Given the description of an element on the screen output the (x, y) to click on. 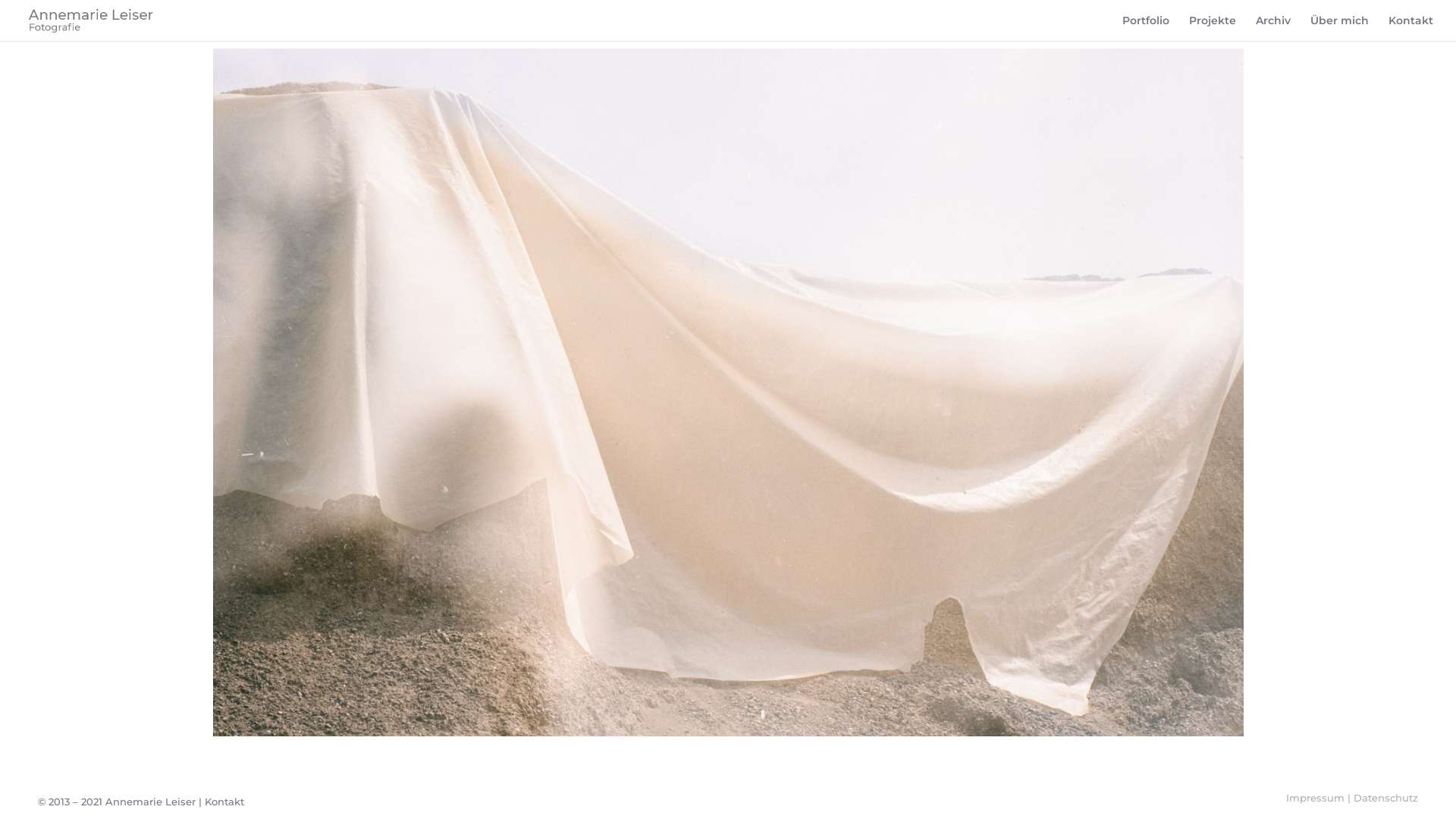
Impressum |  Element type: text (1319, 797)
Archiv Element type: text (1272, 27)
Kontakt Element type: text (1410, 27)
Portfolio Element type: text (1145, 27)
Projekte Element type: text (1212, 27)
Datenschutz Element type: text (1385, 797)
